Given the description of an element on the screen output the (x, y) to click on. 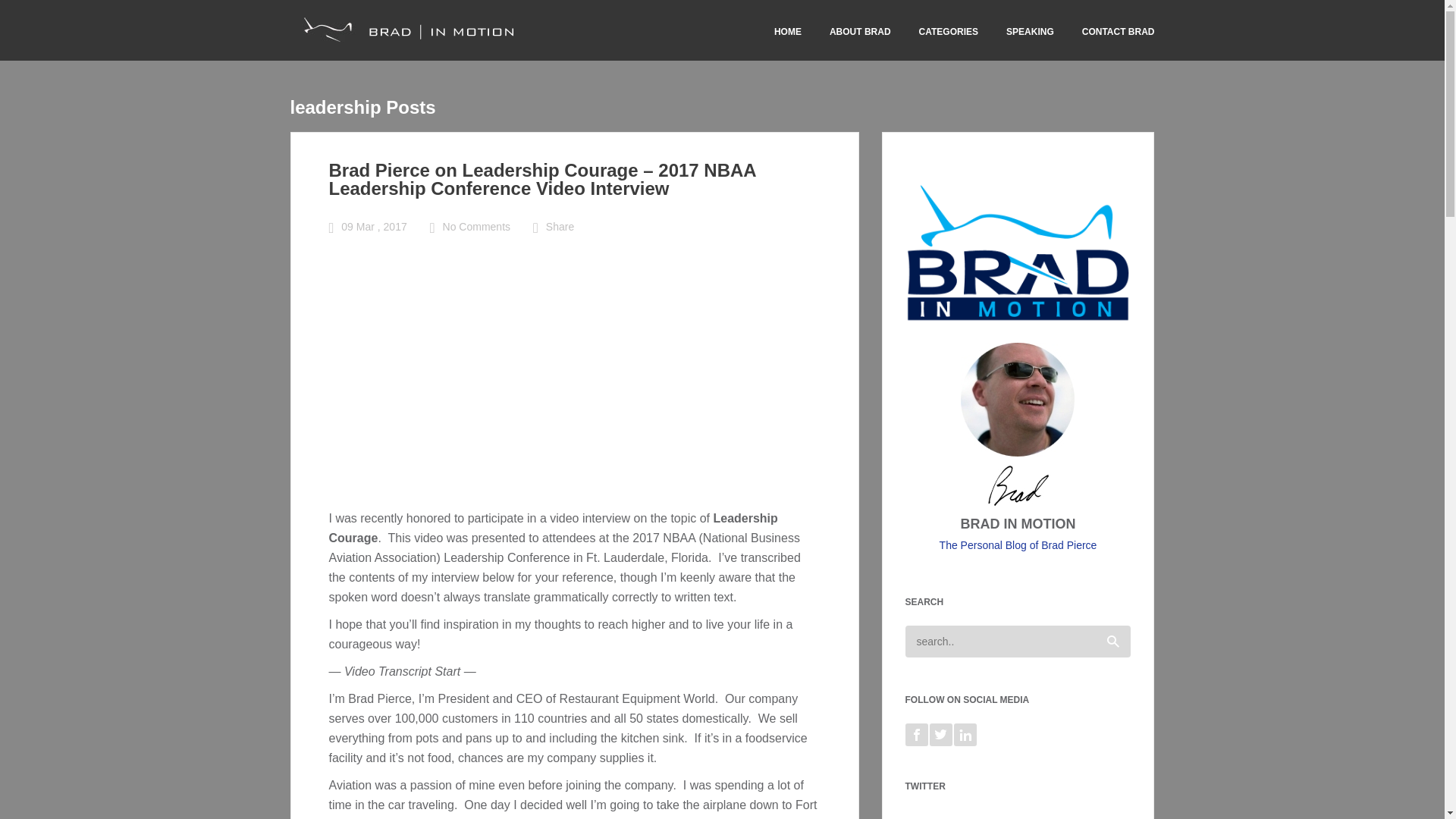
CONTACT BRAD (1117, 31)
No Comments (476, 226)
ABOUT BRAD (860, 31)
09 Mar , 2017 (373, 226)
HOME (788, 31)
Share (559, 226)
CATEGORIES (948, 31)
SPEAKING (1030, 31)
